Given the description of an element on the screen output the (x, y) to click on. 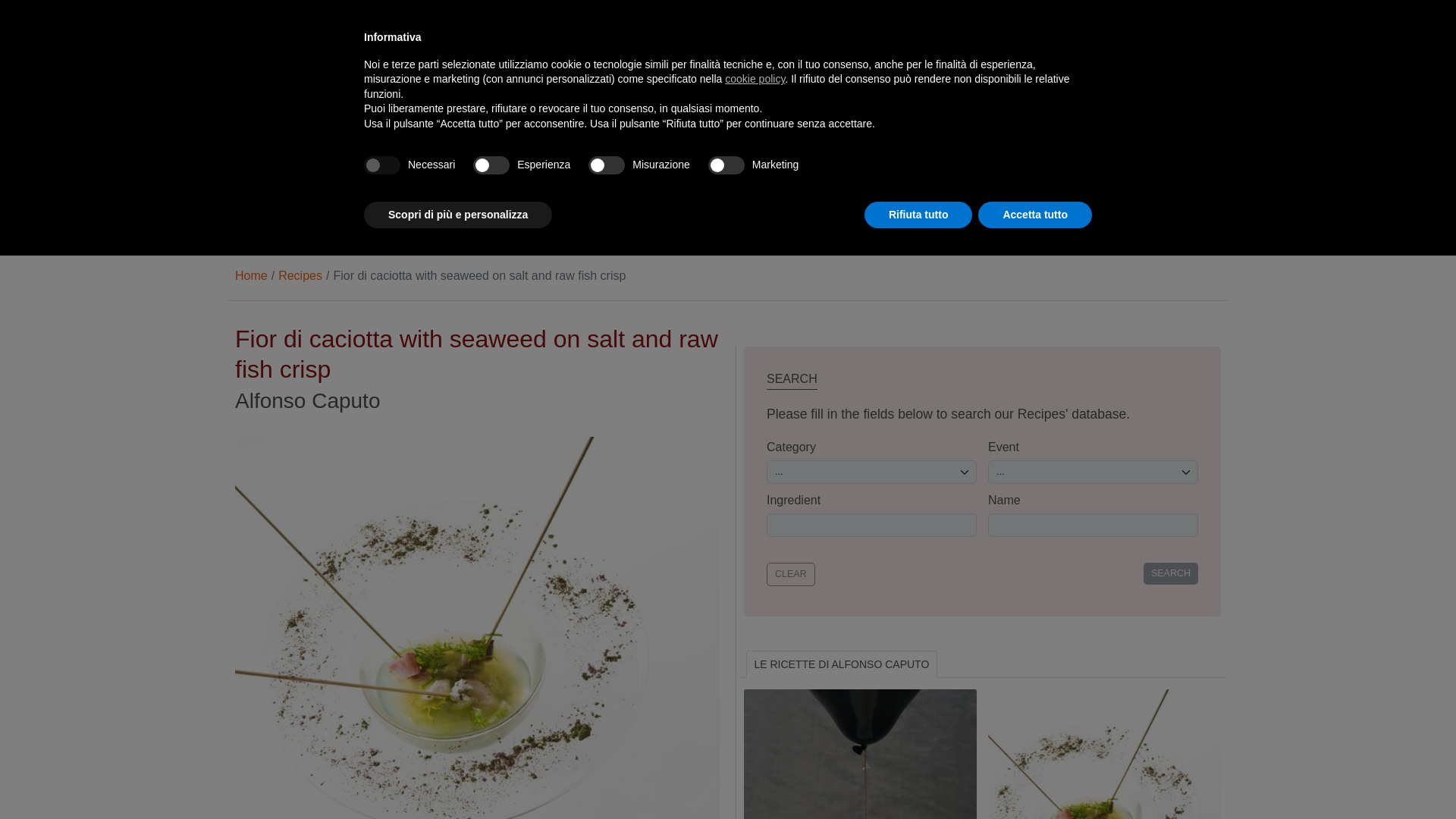
Latteria Sorrentina leggi le news (545, 89)
Berto's leggi le news (914, 89)
false (725, 165)
ENG Monograno Felicetti leggi le news (1038, 89)
CLEAR (791, 574)
CHEFS (312, 211)
Youtube (360, 22)
Forni Moretti leggi le news (791, 89)
Facebook (266, 22)
Molino Casillo (668, 89)
CONGRESSO (329, 158)
false (491, 165)
SEARCH (1170, 573)
Acqua Panna S.Pellegrino leggi le news (421, 89)
